Given the description of an element on the screen output the (x, y) to click on. 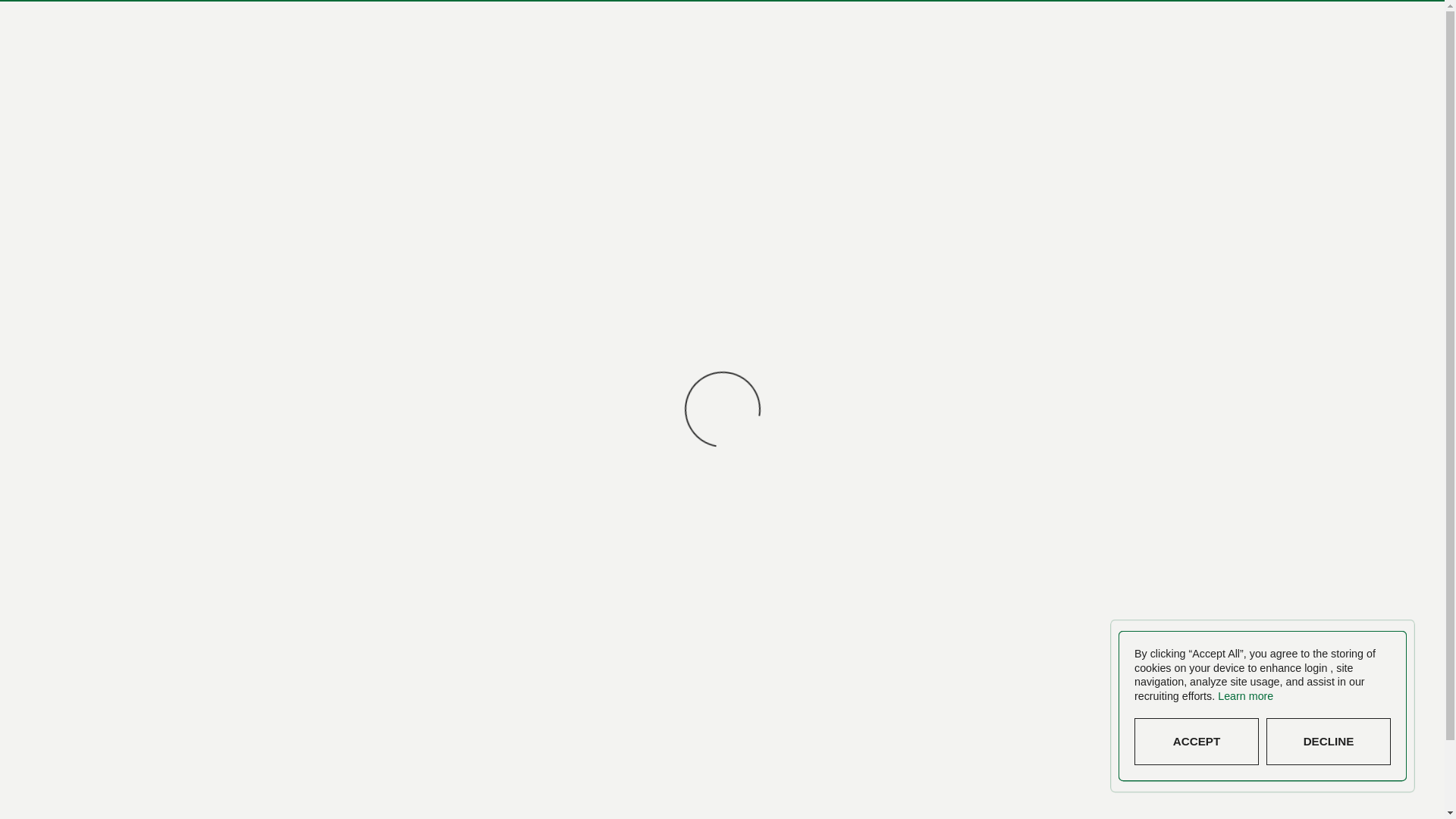
Learn more Element type: text (1305, 696)
DECLINE Element type: text (1367, 741)
ACCEPT Element type: text (1245, 741)
